Given the description of an element on the screen output the (x, y) to click on. 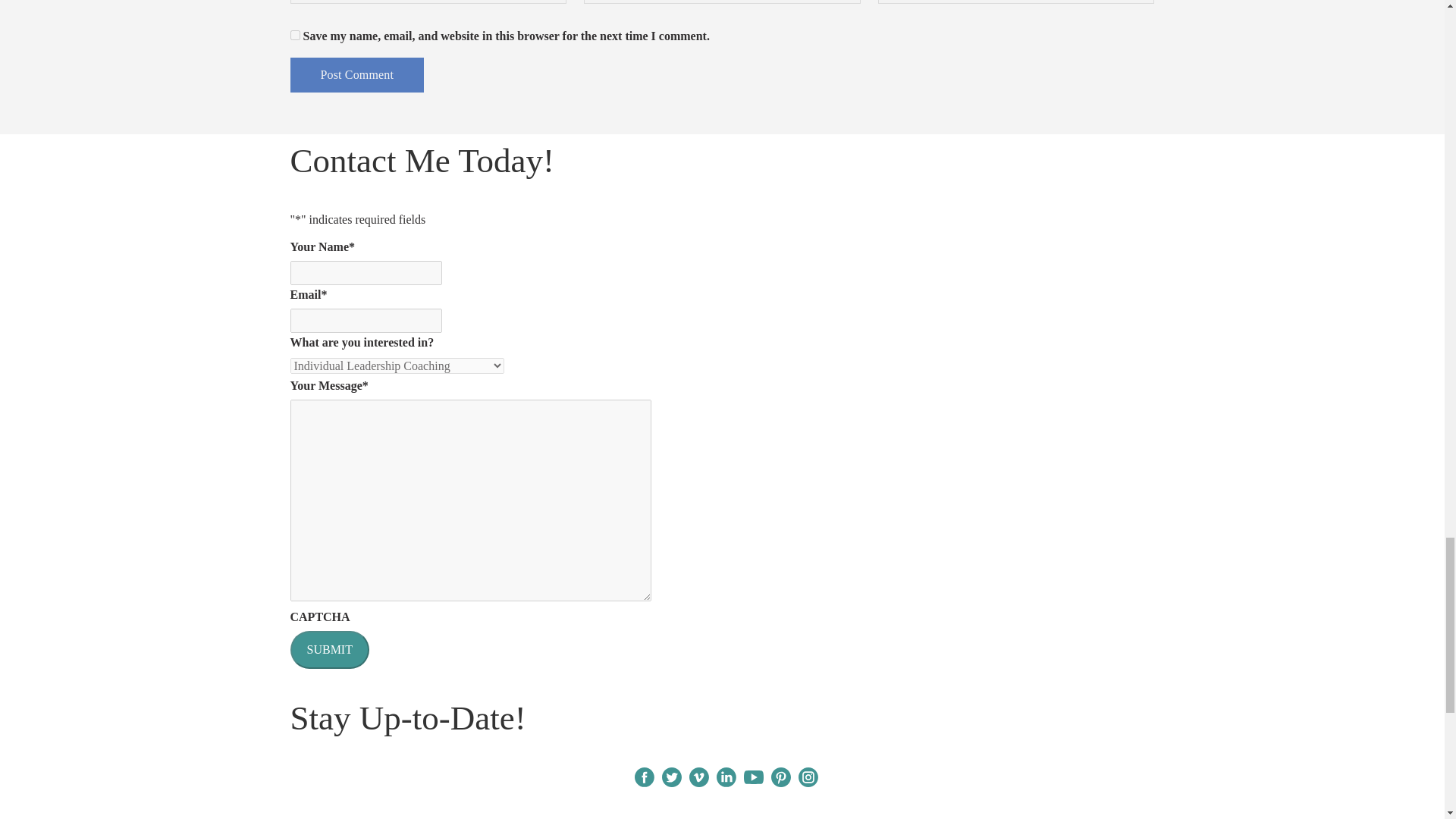
Post Comment (356, 74)
Submit (328, 649)
yes (294, 35)
